Given the description of an element on the screen output the (x, y) to click on. 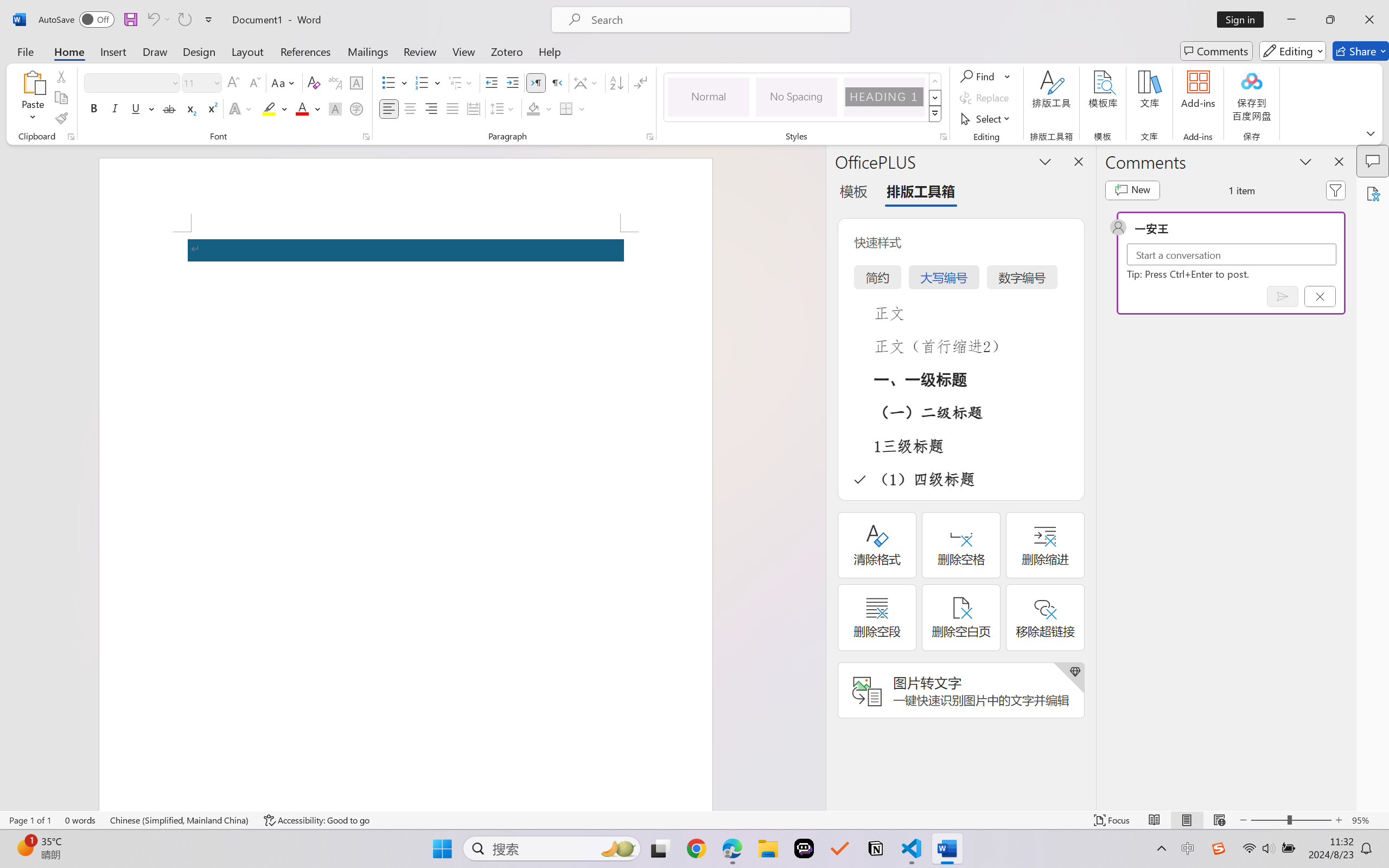
Editing (1292, 50)
New comment (1132, 190)
